Given the description of an element on the screen output the (x, y) to click on. 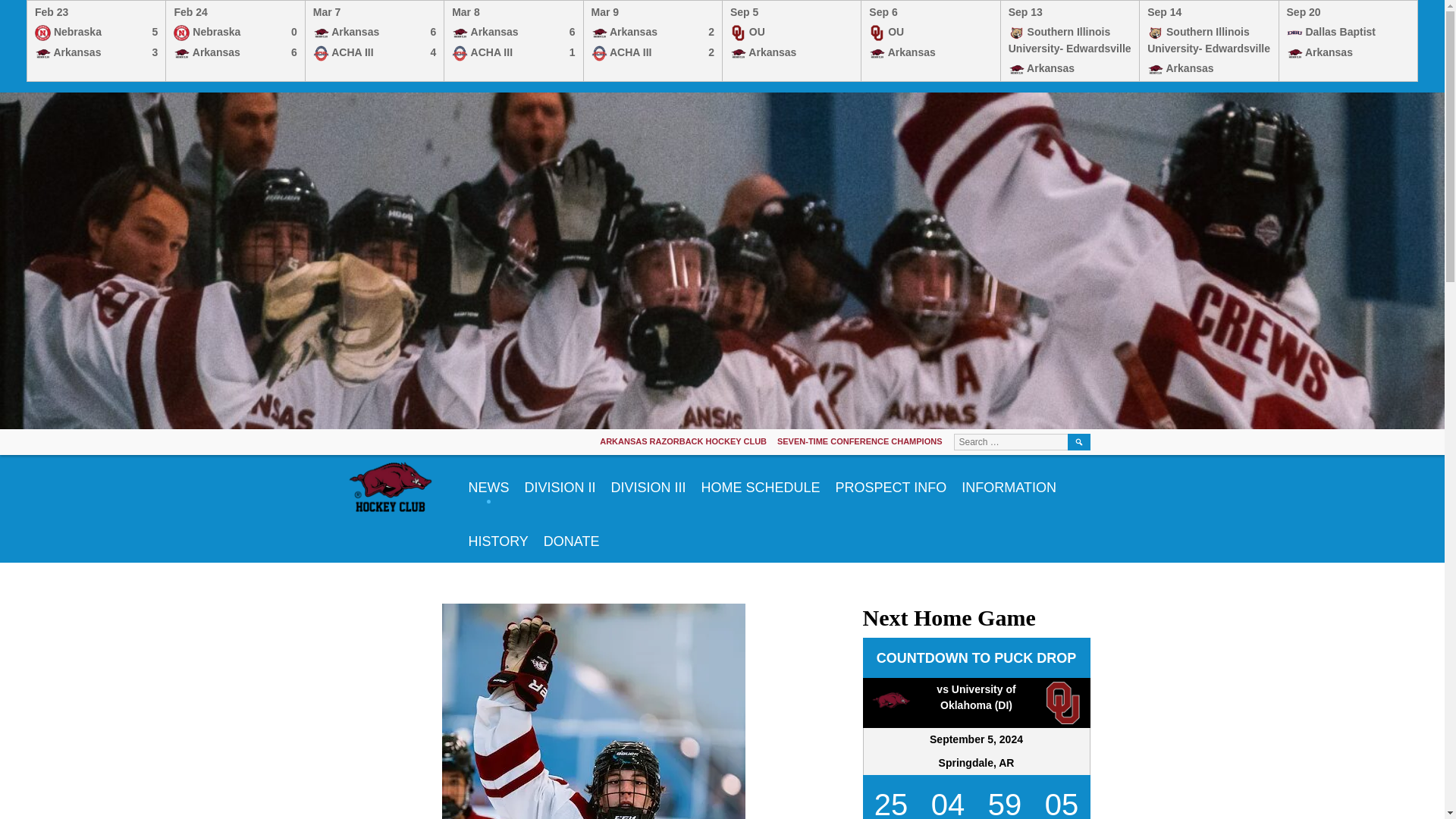
INFORMATION (791, 32)
DIVISION III (652, 32)
DIVISION II (929, 32)
Search (1008, 481)
